Given the description of an element on the screen output the (x, y) to click on. 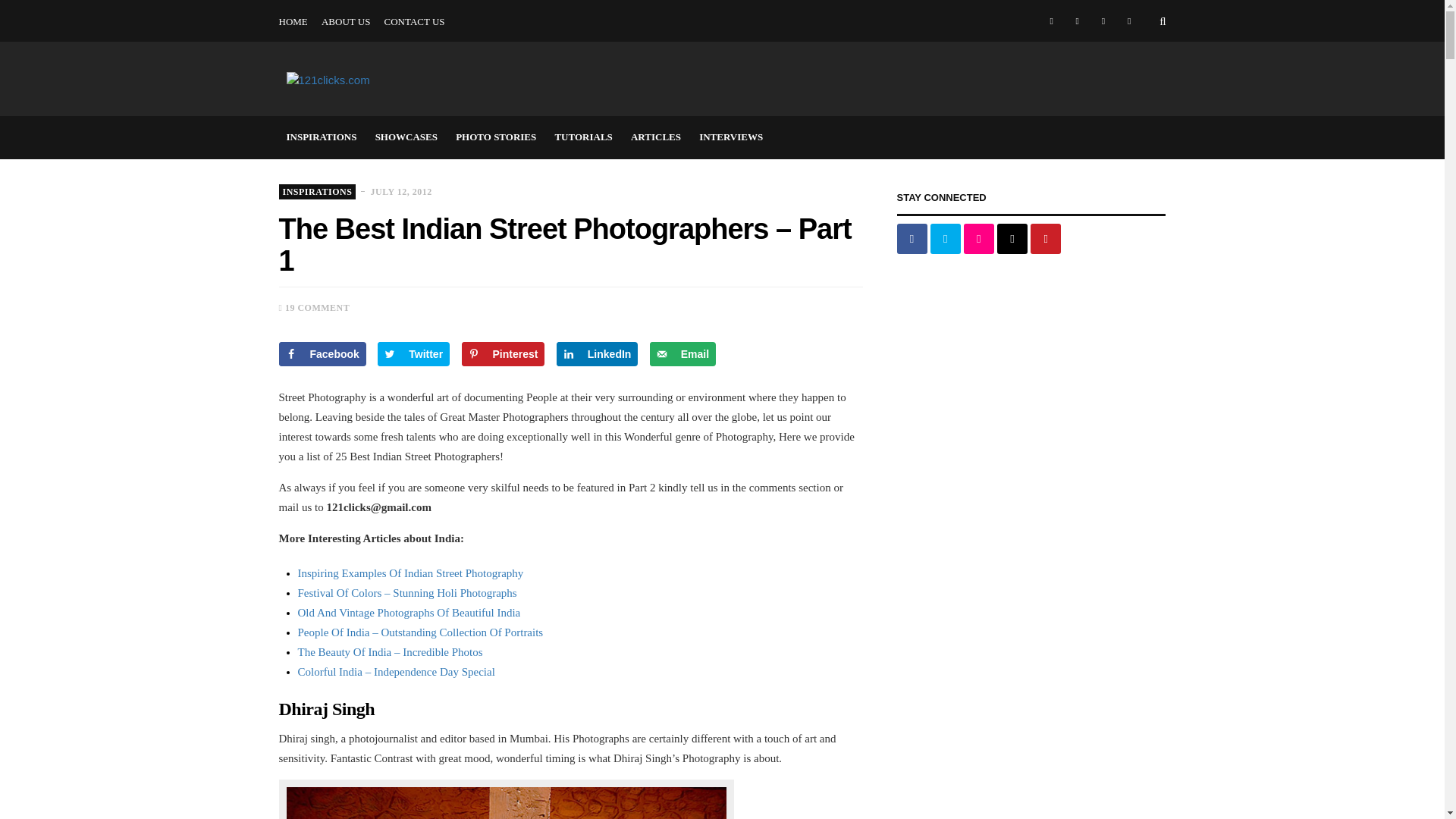
TUTORIALS (583, 137)
Share on Facebook (322, 354)
TUTORIALS (952, 0)
Send over email (682, 354)
PHOTO STORIES (869, 0)
Share on LinkedIn (597, 354)
INTERVIEWS (1091, 0)
CONTACT US (413, 22)
ARTICLES (1020, 0)
Share on Twitter (413, 354)
